Given the description of an element on the screen output the (x, y) to click on. 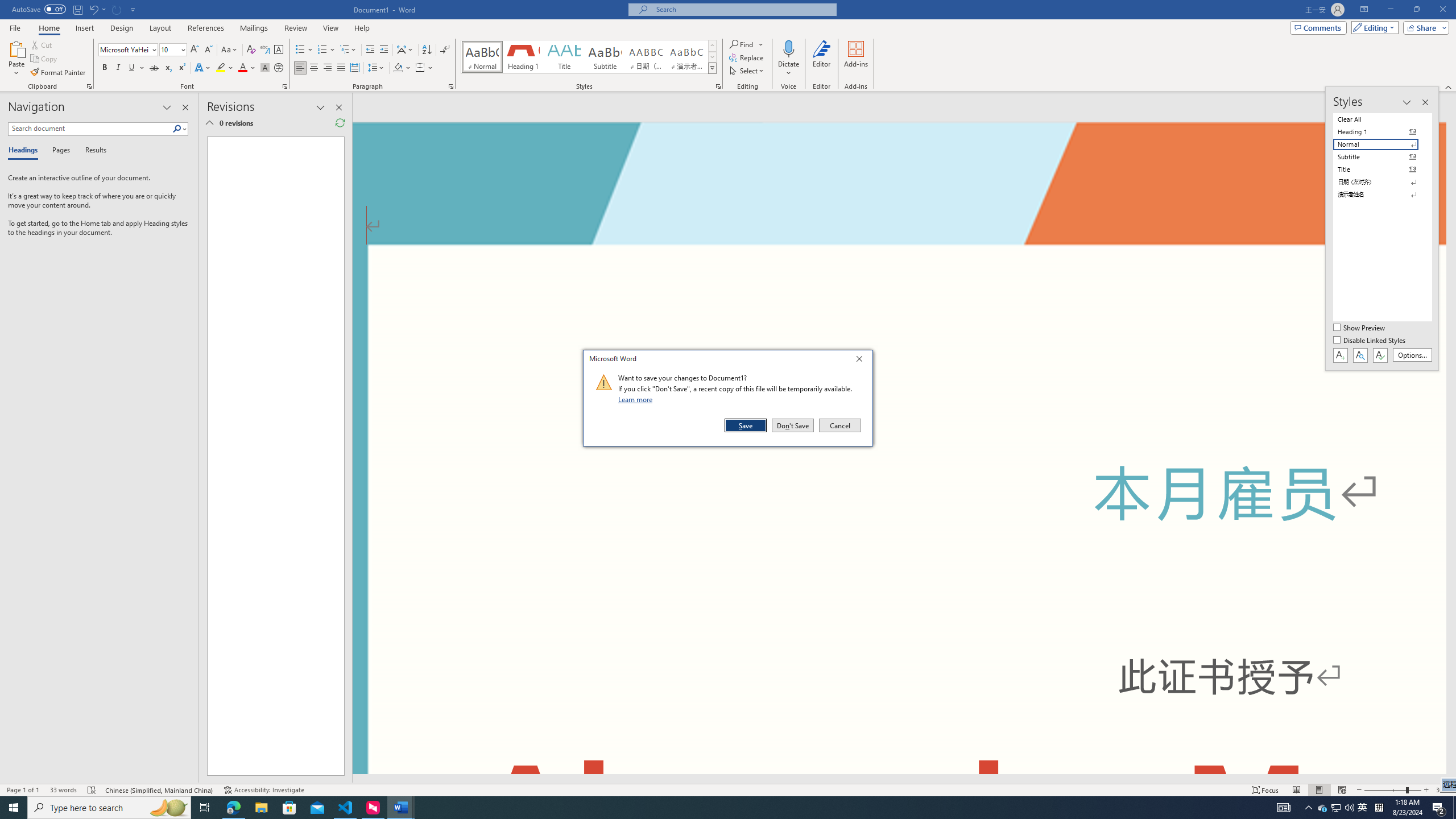
Strikethrough (154, 67)
Show/Hide Editing Marks (444, 49)
Zoom Out (1385, 790)
Restore Down (1416, 9)
Enclose Characters... (278, 67)
Normal (1382, 144)
Can't Repeat (117, 9)
Bold (104, 67)
Home (48, 28)
Asian Layout (405, 49)
Search highlights icon opens search home window (167, 807)
AutoSave (38, 9)
More Options (788, 68)
System (6, 6)
Web Layout (1342, 790)
